Given the description of an element on the screen output the (x, y) to click on. 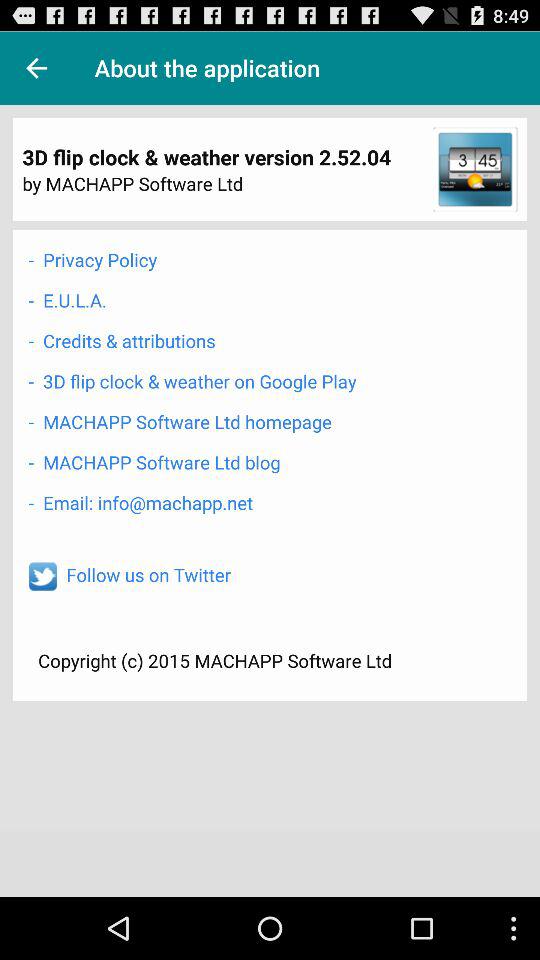
select icon below the -  privacy policy (67, 300)
